Given the description of an element on the screen output the (x, y) to click on. 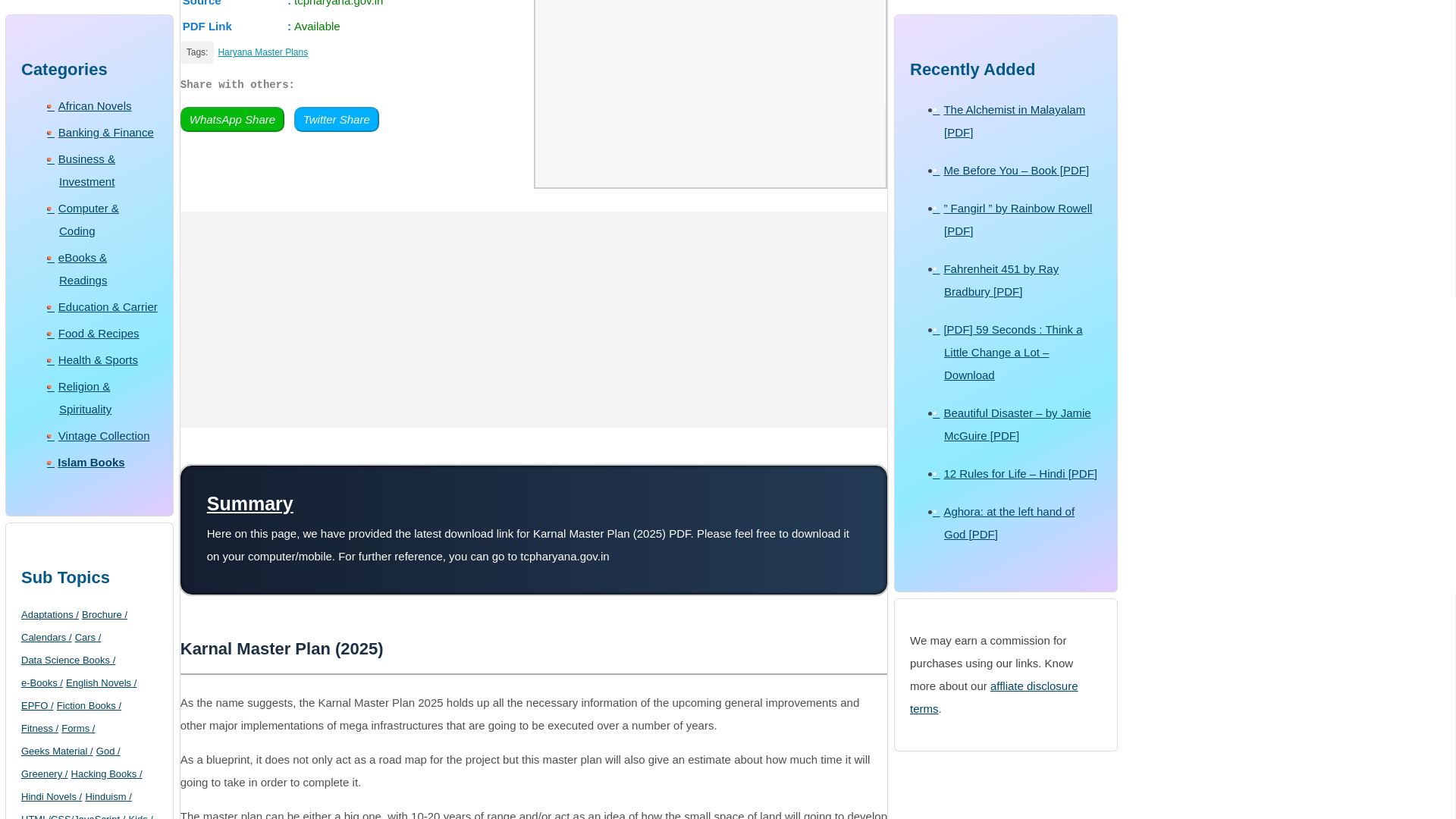
English Novels (100, 378)
Vintage Collection (103, 130)
WhatsApp Share (231, 119)
Download Link (357, 26)
Summary (533, 530)
EPFO (37, 401)
Cars (88, 332)
Data Science Books (68, 355)
WhatsApp Share (231, 119)
Fiction Books (88, 401)
PDF Preview 1 (710, 126)
e-Books (41, 378)
Fitness (39, 424)
Calendars (46, 332)
Twitter Share (336, 119)
